Given the description of an element on the screen output the (x, y) to click on. 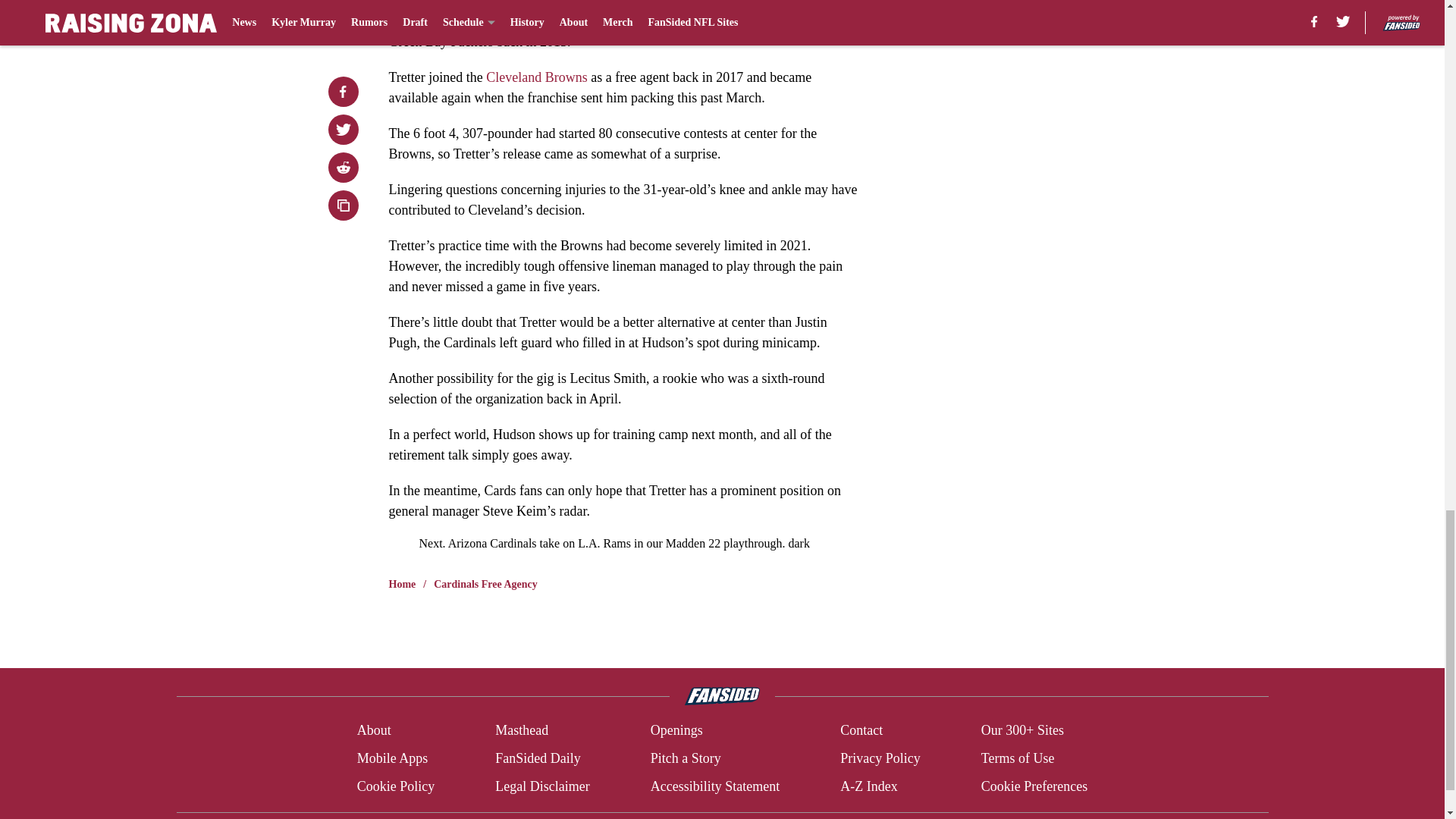
Pitch a Story (685, 758)
Privacy Policy (880, 758)
Accessibility Statement (714, 786)
About (373, 730)
Cookie Preferences (1034, 786)
FanSided Daily (537, 758)
Openings (676, 730)
Home (401, 584)
A-Z Index (868, 786)
Cleveland Browns (536, 77)
Contact (861, 730)
Legal Disclaimer (542, 786)
Terms of Use (1017, 758)
Cookie Policy (395, 786)
Mobile Apps (392, 758)
